Given the description of an element on the screen output the (x, y) to click on. 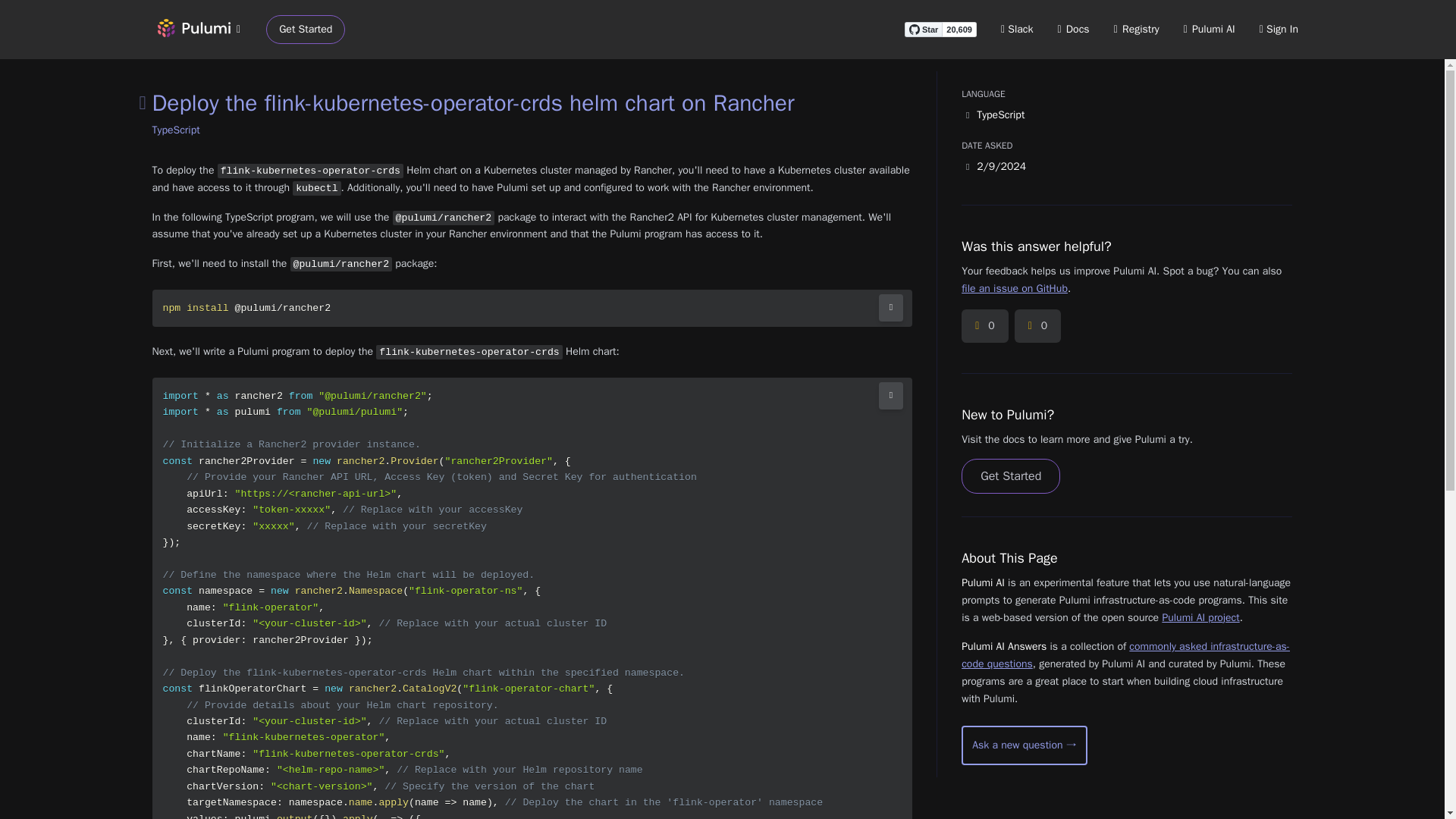
Slack (1017, 29)
Downvote this answer (1037, 326)
Pulumi AI (1208, 29)
 Star (923, 29)
0 (1037, 326)
Start a new conversation with Pulumi AI (1023, 744)
Sign In (1278, 29)
20,609 (959, 29)
Get Started (305, 29)
Docs (1073, 29)
Registry (1135, 29)
Upvote this answer (984, 326)
file an issue on GitHub (1013, 287)
0 (984, 326)
